Given the description of an element on the screen output the (x, y) to click on. 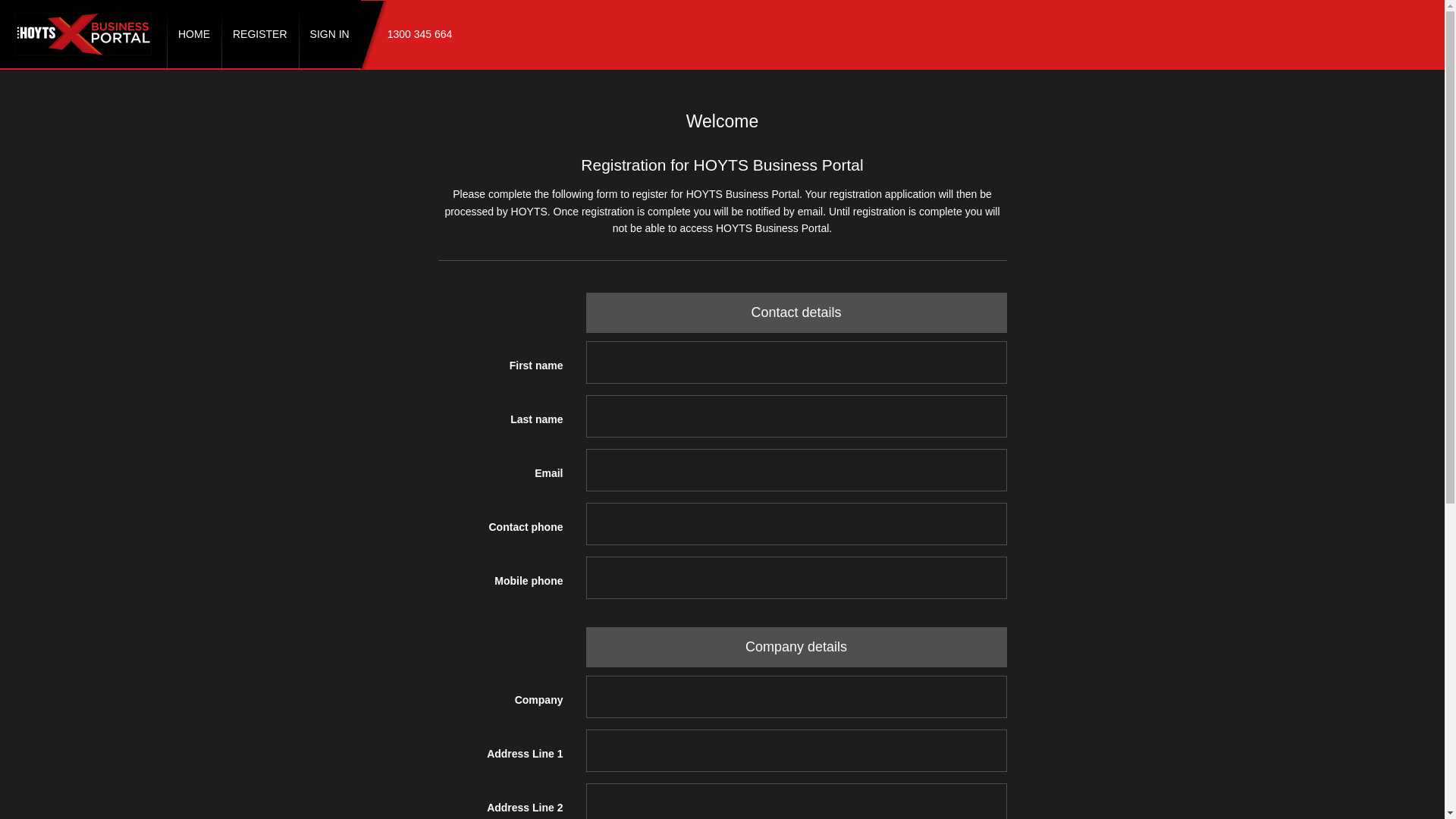
SIGN IN Element type: text (329, 34)
REGISTER Element type: text (259, 34)
HOME Element type: text (193, 34)
